Given the description of an element on the screen output the (x, y) to click on. 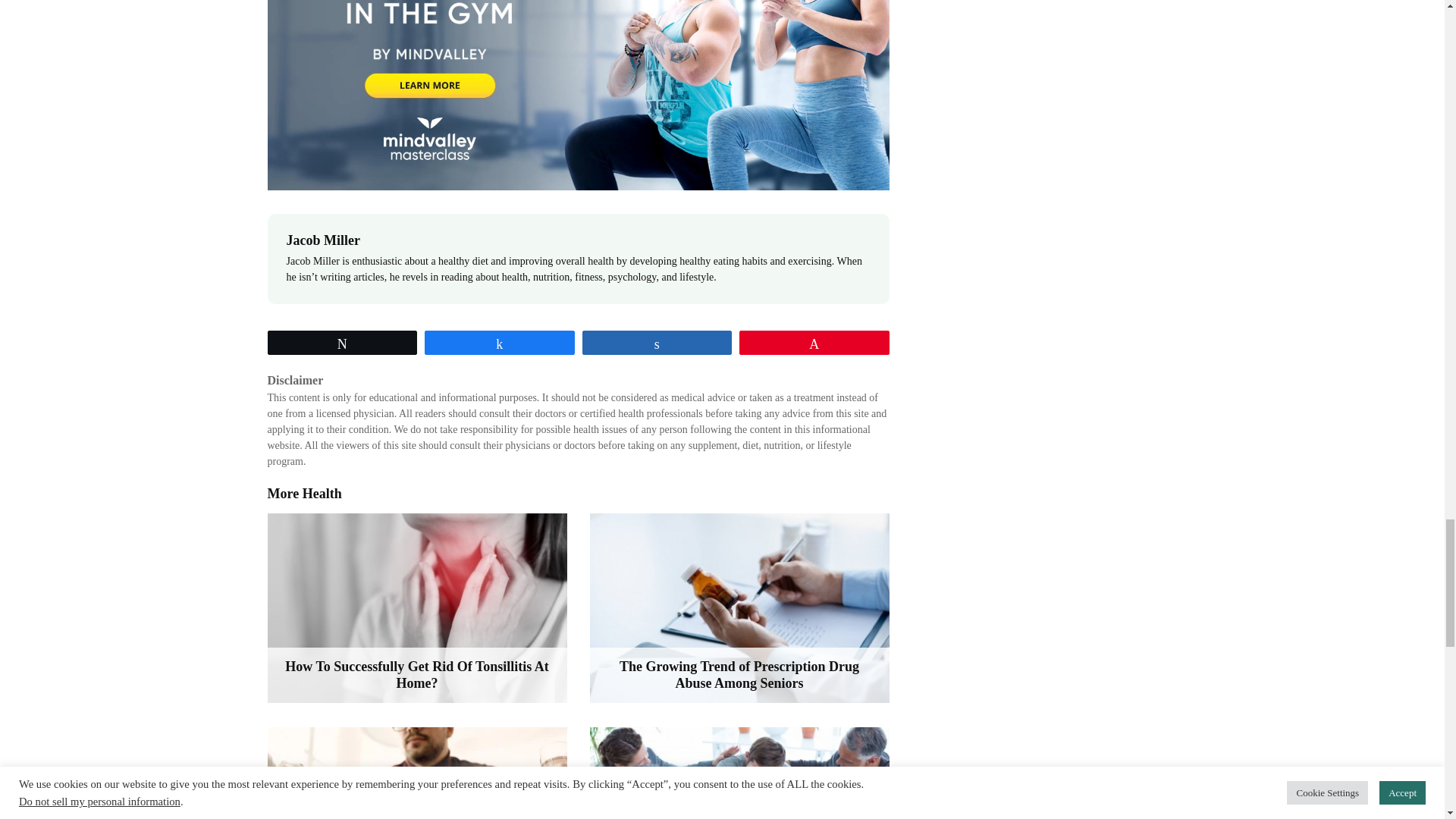
How To Successfully Get Rid Of Tonsillitis At Home? (416, 607)
Health (322, 493)
The Role of Medication in Treating Alcohol Dependence (739, 773)
The Growing Trend of Prescription Drug Abuse Among Seniors (739, 607)
Jacob Miller (322, 240)
